Given the description of an element on the screen output the (x, y) to click on. 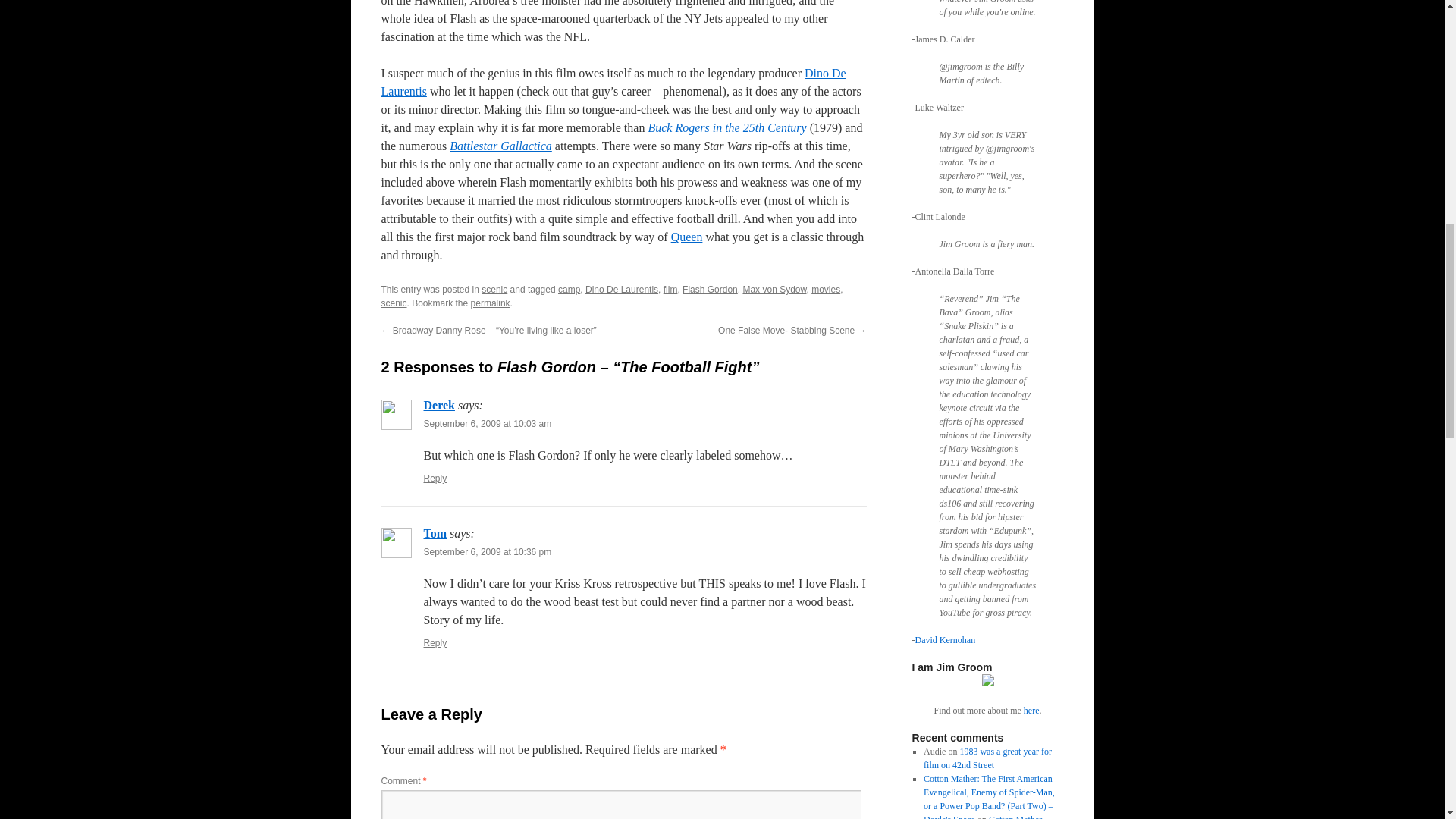
scenic (493, 289)
Queen (687, 236)
Buck Rogers in the 25th Century (726, 127)
Flash Gordon (710, 289)
September 6, 2009 at 10:03 am (487, 423)
Reply (434, 478)
movies (825, 289)
Battlestar Gallactica (500, 145)
Derek (438, 404)
Dino De Laurentis (621, 289)
permalink (490, 303)
film (670, 289)
Max von Sydow (774, 289)
camp (568, 289)
scenic (393, 303)
